Given the description of an element on the screen output the (x, y) to click on. 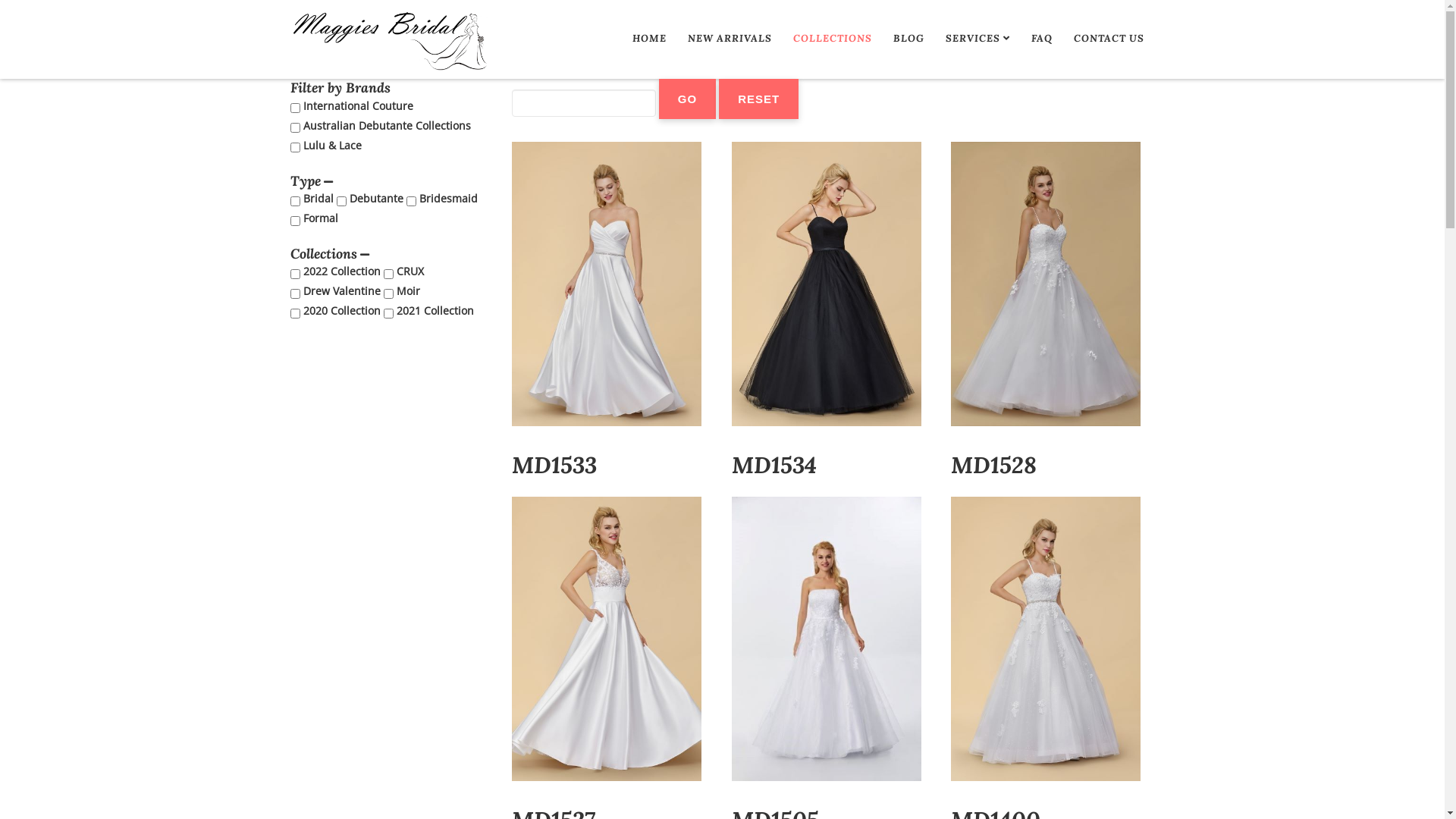
MD1528 Element type: hover (1045, 283)
Reset Element type: text (758, 98)
COLLECTIONS Element type: text (832, 38)
NEW ARRIVALS Element type: text (729, 38)
BLOG Element type: text (908, 38)
MD1534 Element type: text (773, 464)
MD1533 Element type: text (553, 464)
MD1528 Element type: text (993, 464)
CONTACT US Element type: text (1108, 38)
FAQ Element type: text (1041, 38)
SERVICES Element type: text (976, 38)
MD1400 Element type: hover (1045, 638)
MD1533 Element type: hover (606, 283)
MD1534 Element type: hover (826, 283)
MD1527 Element type: hover (606, 638)
MD1505 Element type: hover (826, 638)
Go Element type: text (686, 98)
HOME Element type: text (649, 38)
